Given the description of an element on the screen output the (x, y) to click on. 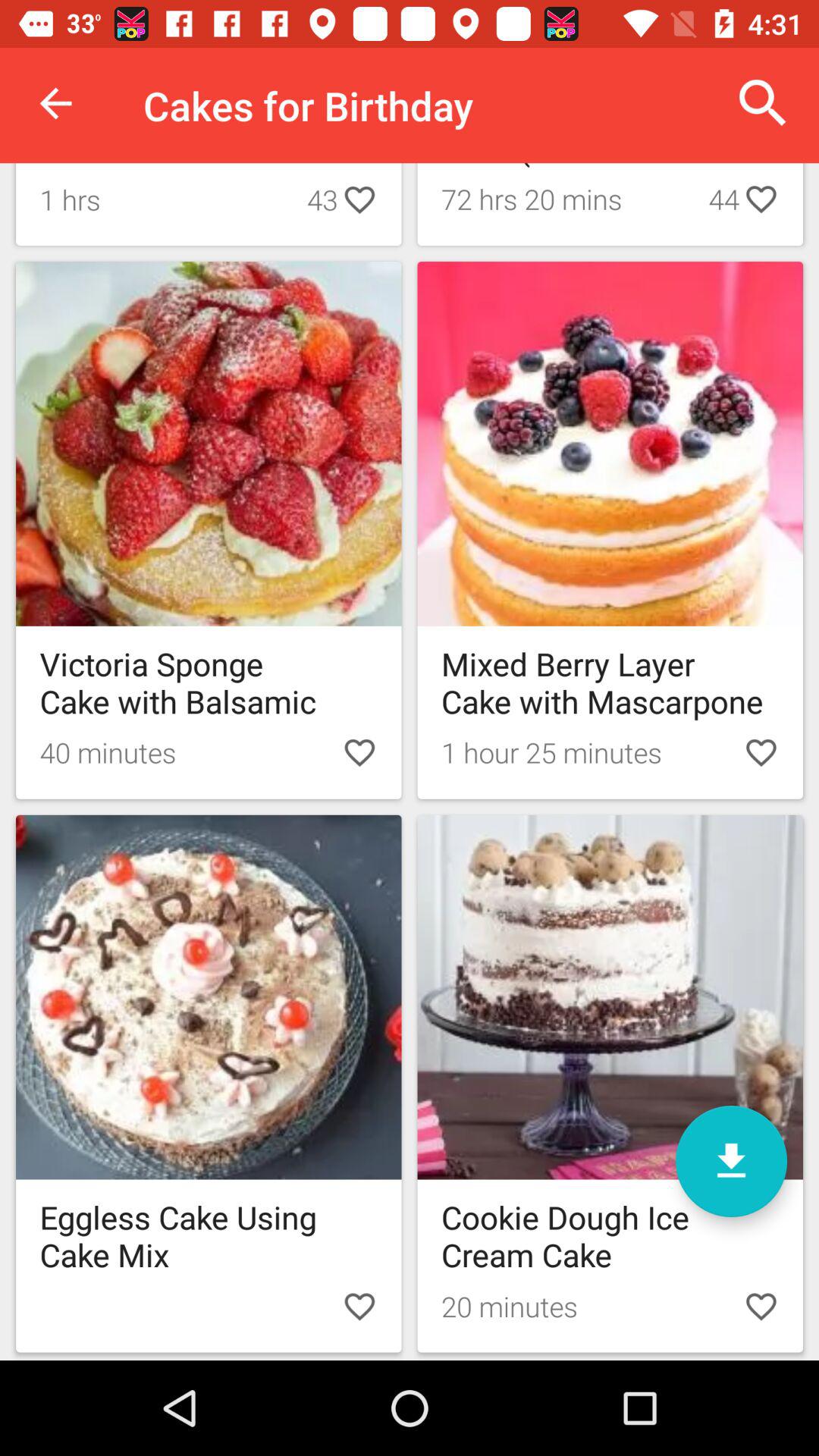
select icon next to cakes for birthday item (55, 103)
